Given the description of an element on the screen output the (x, y) to click on. 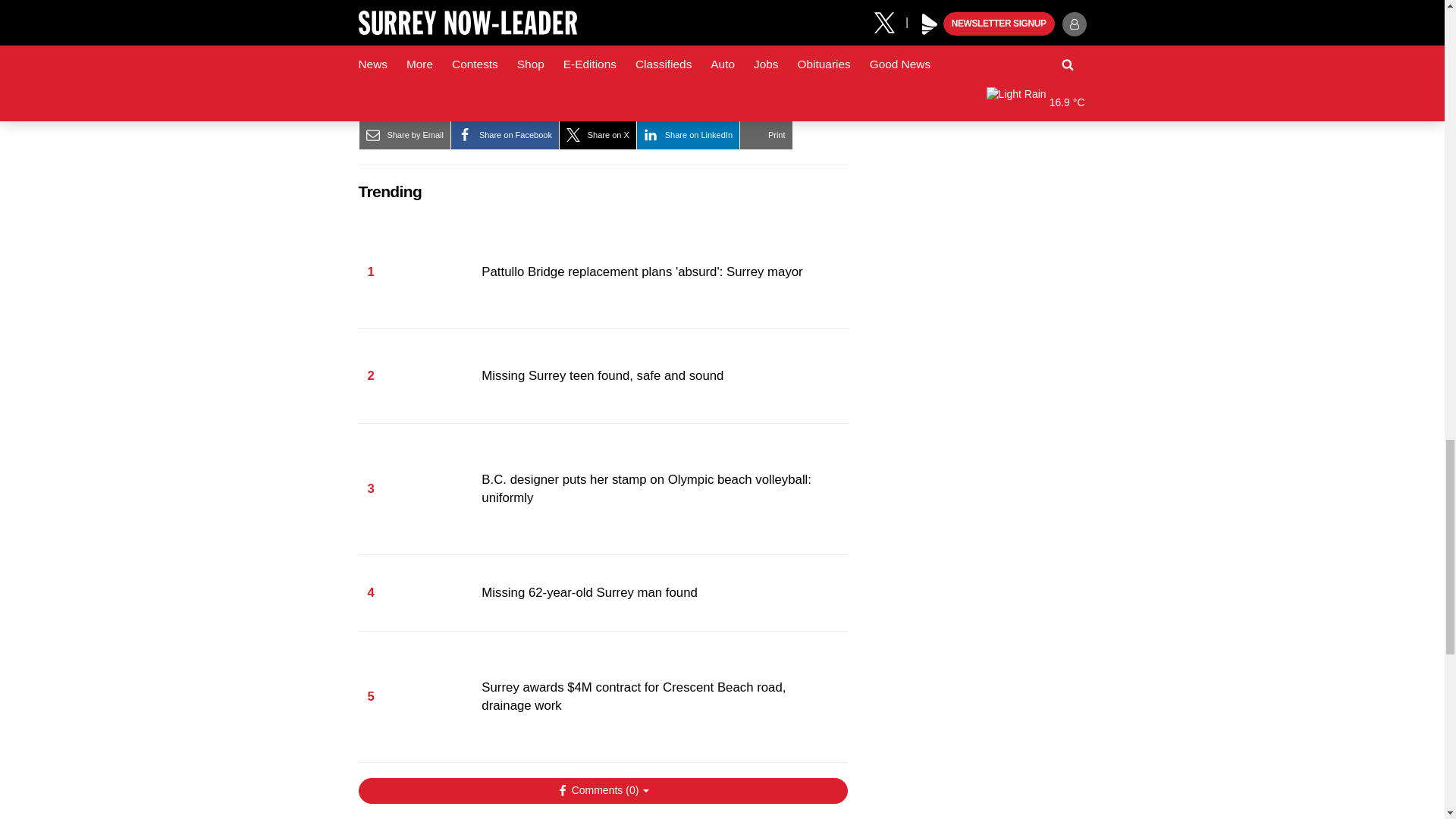
Show Comments (602, 790)
